Given the description of an element on the screen output the (x, y) to click on. 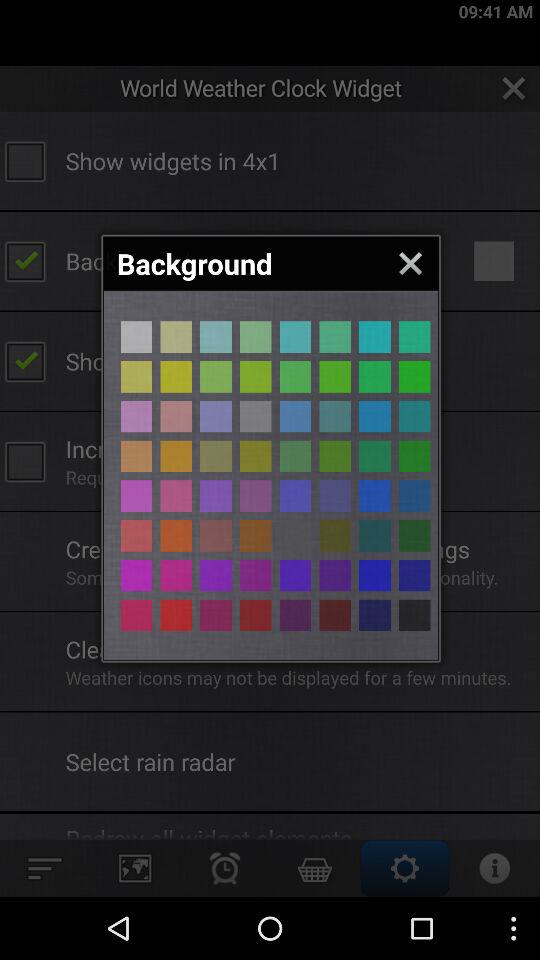
selects the highlighted color (136, 456)
